Given the description of an element on the screen output the (x, y) to click on. 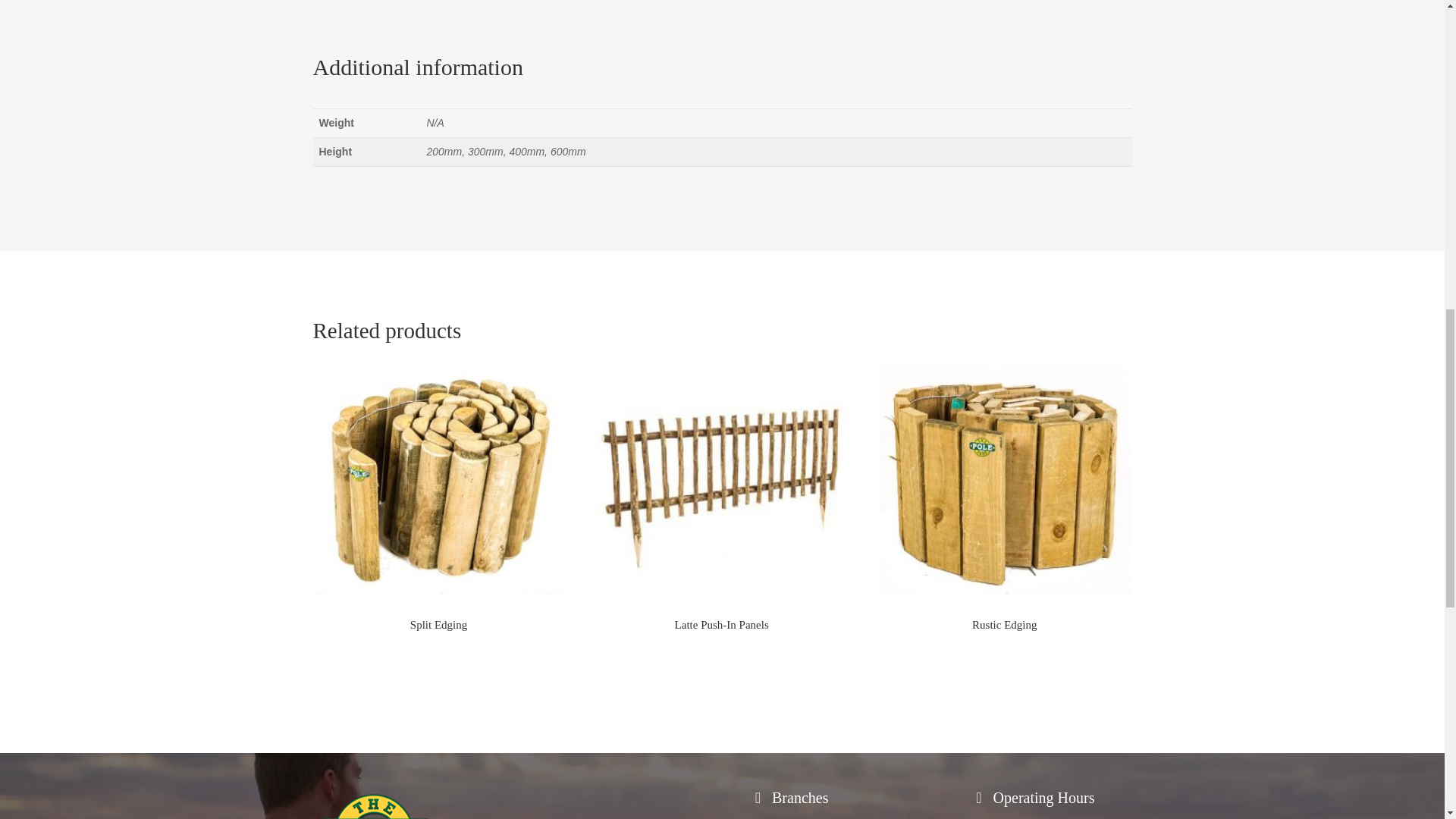
PY-Logo (374, 804)
